Given the description of an element on the screen output the (x, y) to click on. 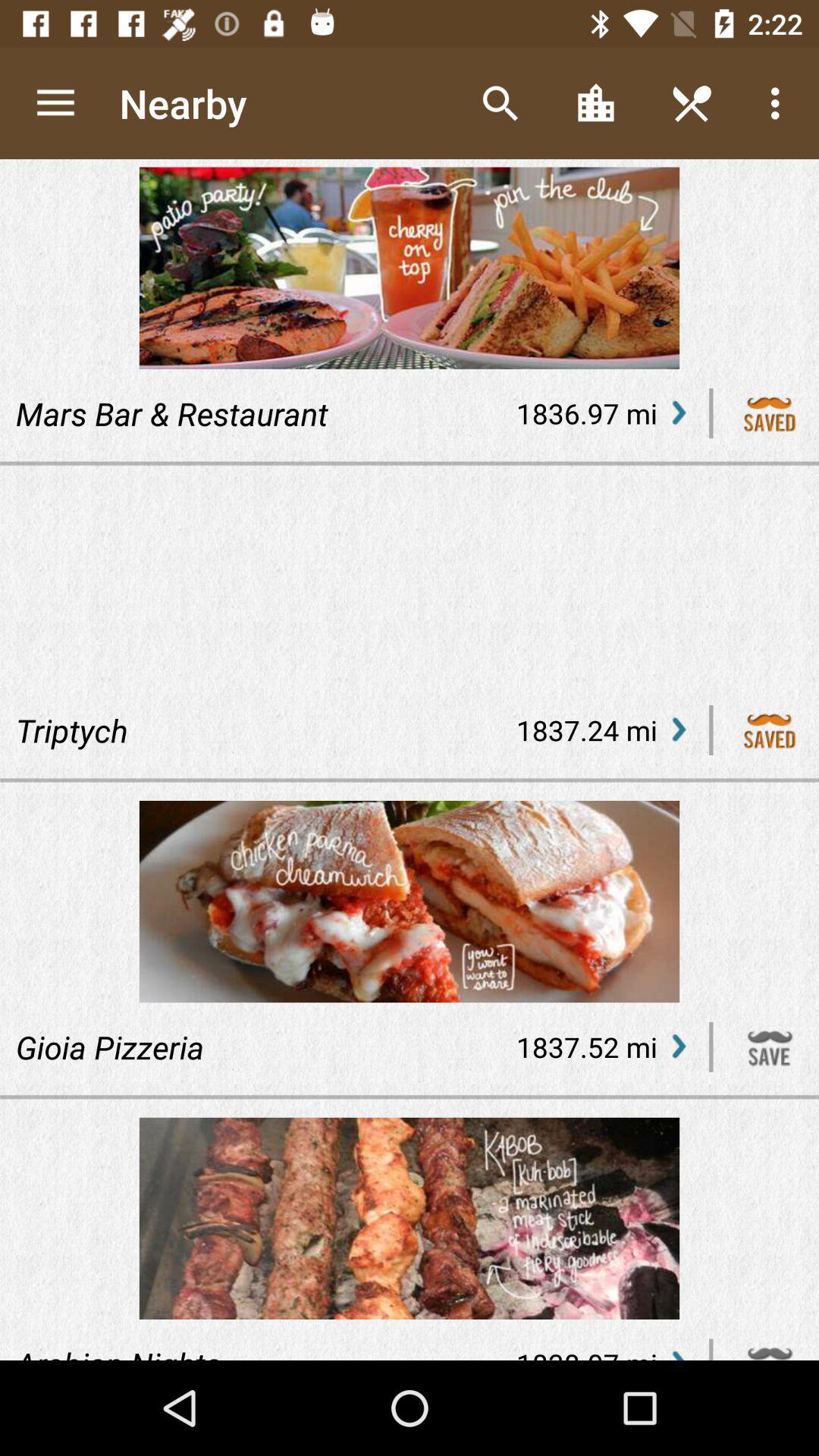
toggle save option (770, 413)
